Given the description of an element on the screen output the (x, y) to click on. 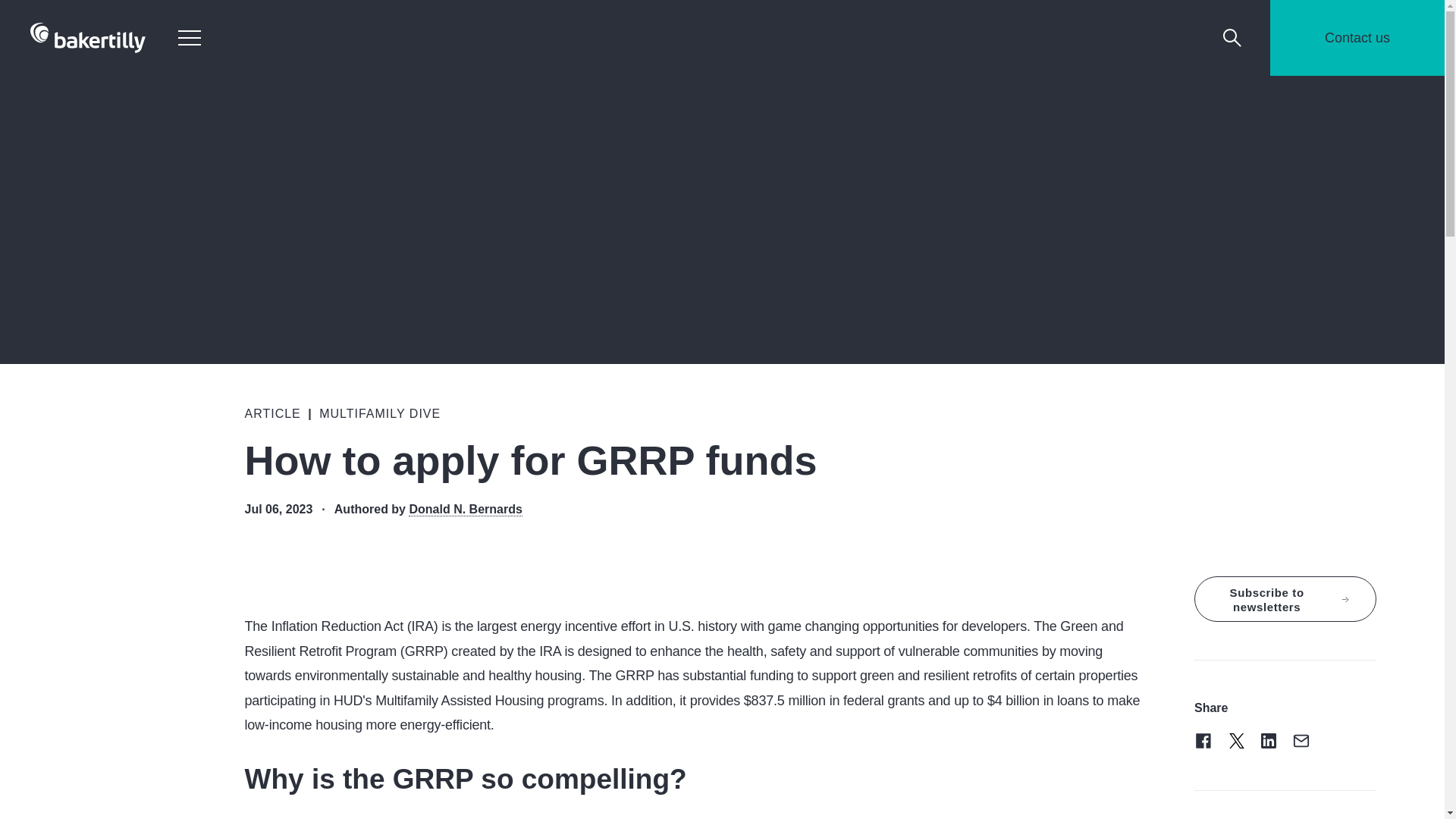
share on LinkedIn (1268, 740)
menu (189, 37)
share on Facebook (1203, 740)
share by email (1300, 740)
Donald N. Bernards (465, 509)
share on X (1236, 740)
Subscribe to newsletters (1284, 598)
